Given the description of an element on the screen output the (x, y) to click on. 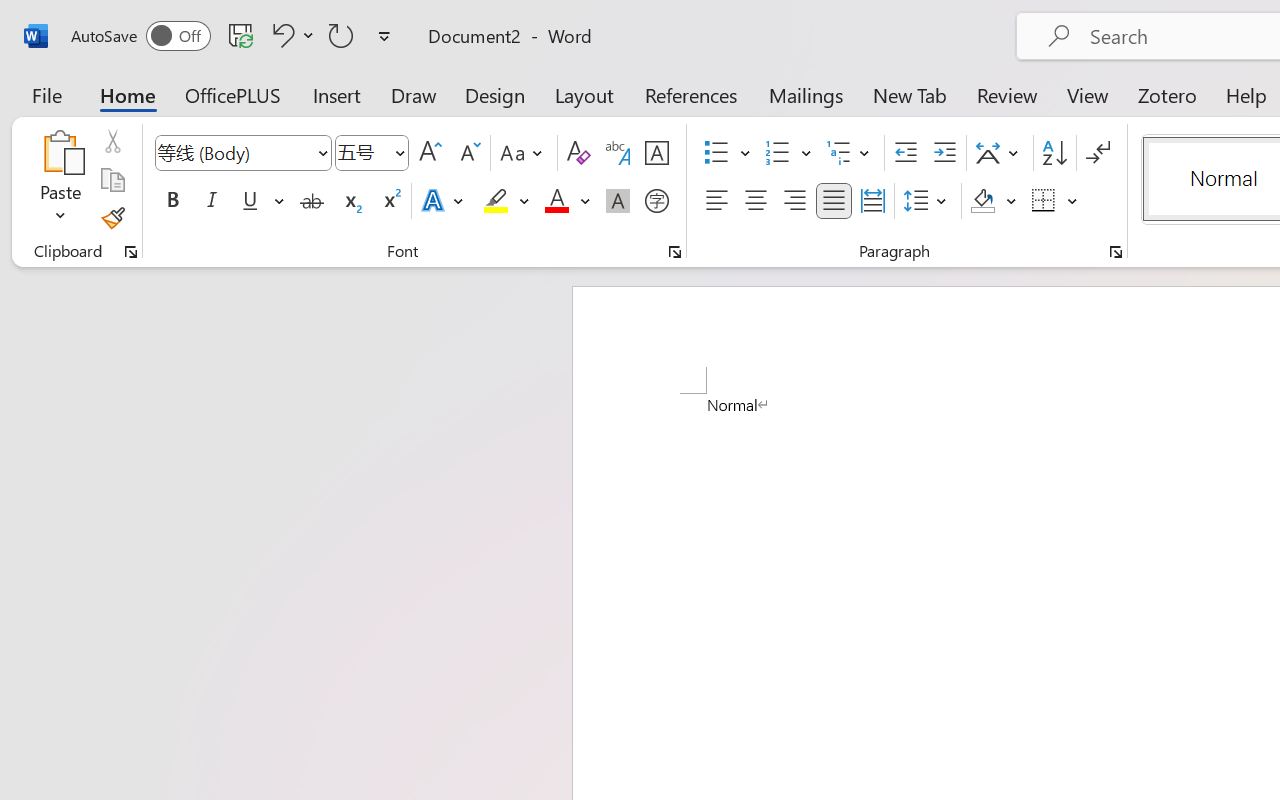
Shading (993, 201)
Save (241, 35)
Underline (250, 201)
Font Size (372, 153)
Font Color Red (556, 201)
Design (495, 94)
New Tab (909, 94)
Text Effects and Typography (444, 201)
OfficePLUS (233, 94)
Increase Indent (944, 153)
Phonetic Guide... (618, 153)
Superscript (390, 201)
Italic (212, 201)
Font (242, 153)
